Given the description of an element on the screen output the (x, y) to click on. 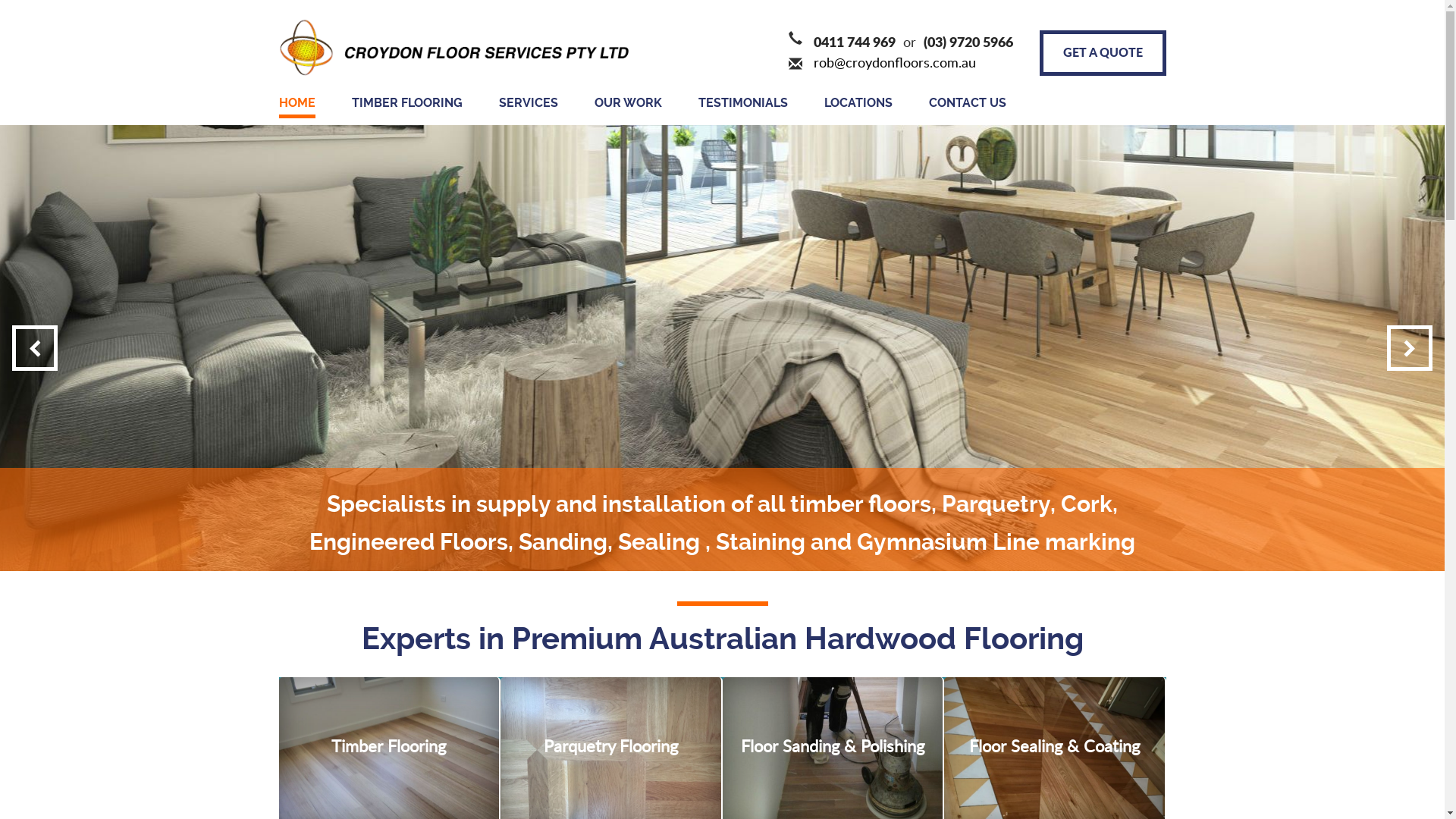
CONTACT US Element type: text (966, 102)
Hardwood Flooring Melbourne Element type: hover (454, 48)
TESTIMONIALS Element type: text (742, 102)
(03) 9720 5966 Element type: text (968, 41)
SERVICES Element type: text (528, 102)
OUR WORK Element type: text (628, 102)
HOME Element type: text (297, 104)
rob@croydonfloors.com.au Element type: text (893, 62)
0411 744 969 Element type: text (853, 41)
LOCATIONS Element type: text (857, 102)
TIMBER FLOORING Element type: text (406, 102)
GET A QUOTE Element type: text (1101, 52)
